Given the description of an element on the screen output the (x, y) to click on. 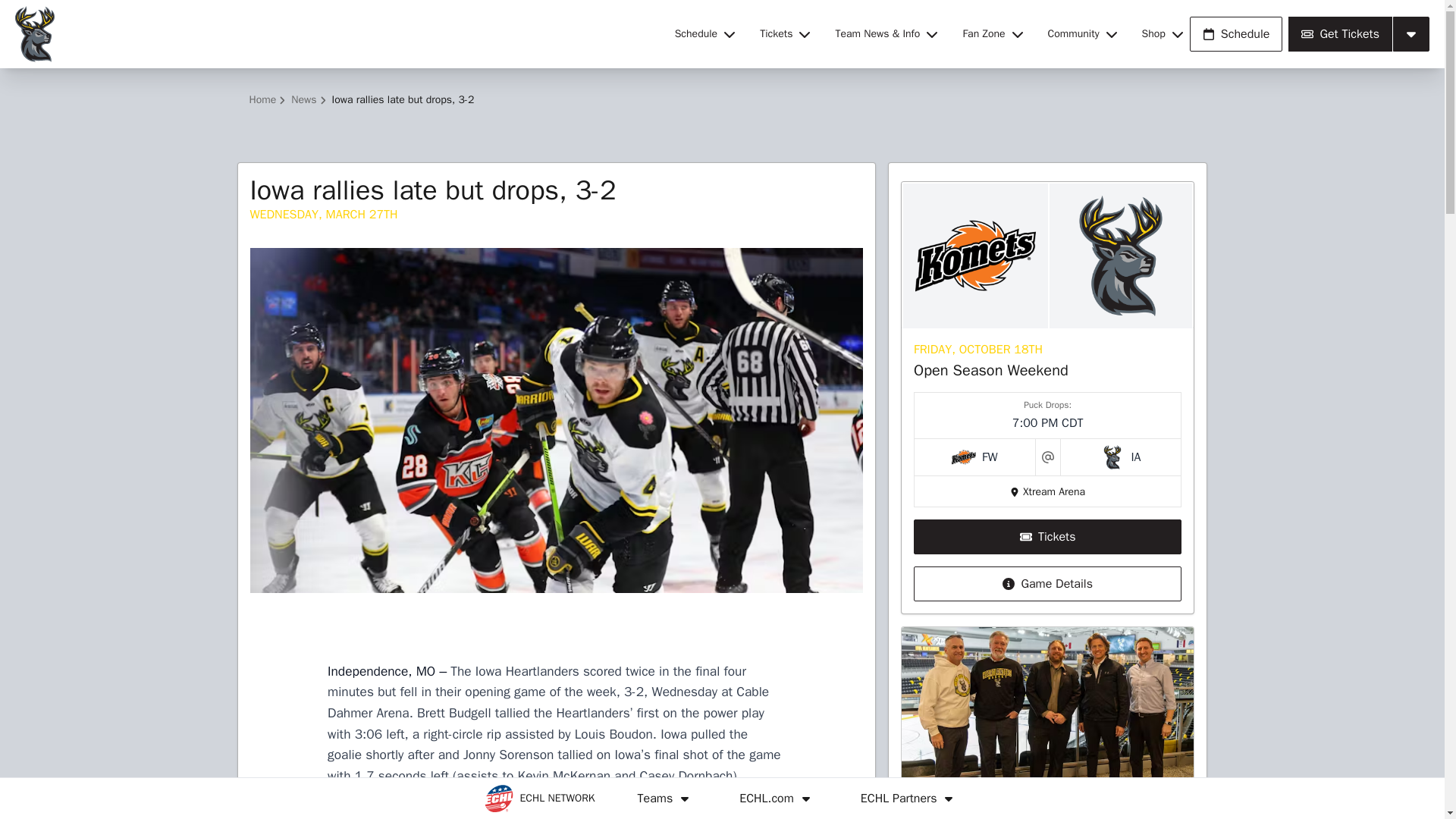
Tickets (785, 33)
Iowa Heartlanders (335, 33)
Fan Zone (992, 33)
Community (1083, 33)
Schedule (704, 33)
